Given the description of an element on the screen output the (x, y) to click on. 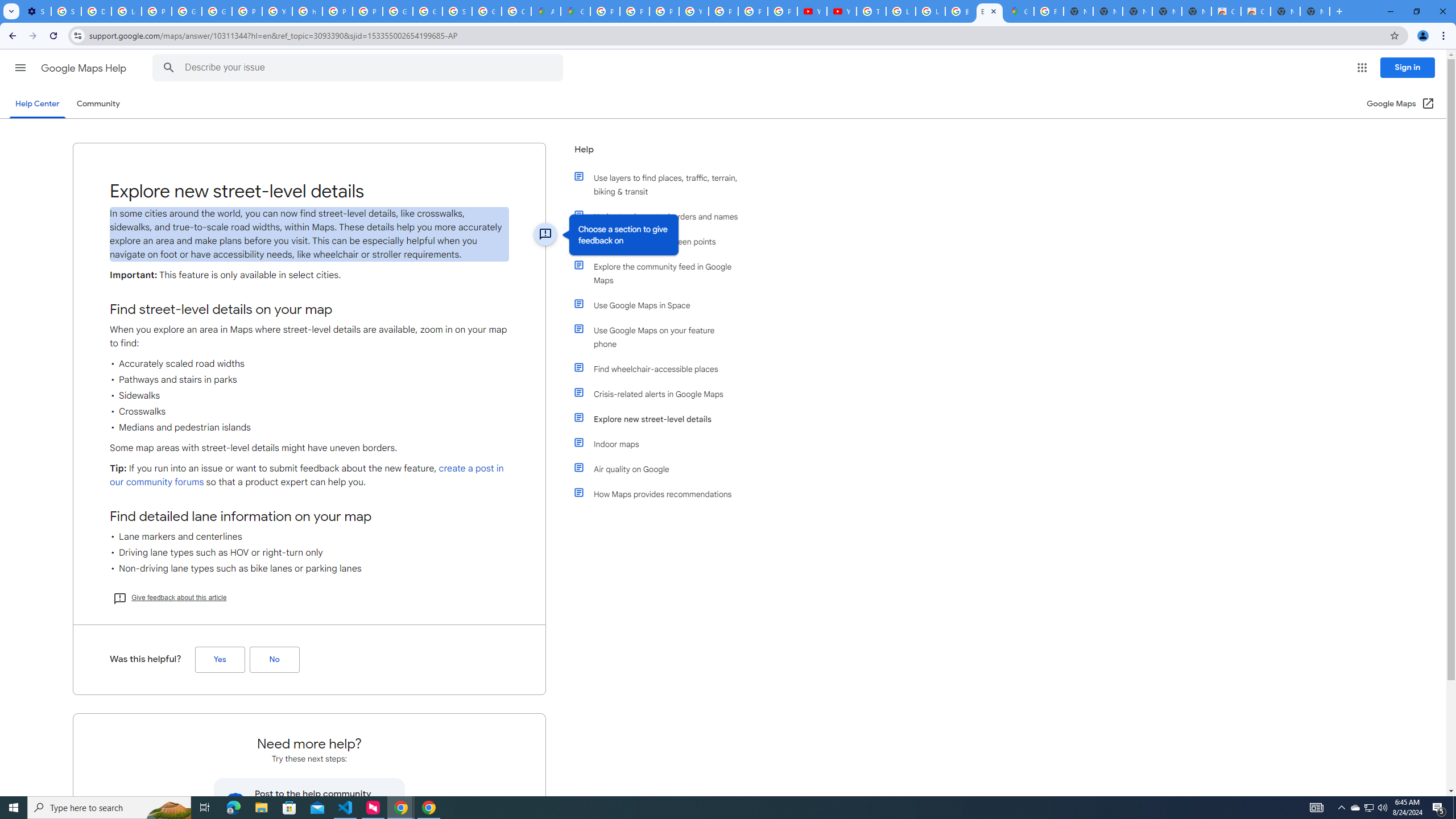
Find wheelchair-accessible places (661, 368)
Driving lane types such as HOV or right-turn only (309, 552)
Measure distance between points (661, 241)
Crisis-related alerts in Google Maps (661, 394)
Tips & tricks for Chrome - Google Chrome Help (871, 11)
Google Account Help (185, 11)
Privacy Help Center - Policies Help (337, 11)
Explore the community feed in Google Maps (661, 273)
